Given the description of an element on the screen output the (x, y) to click on. 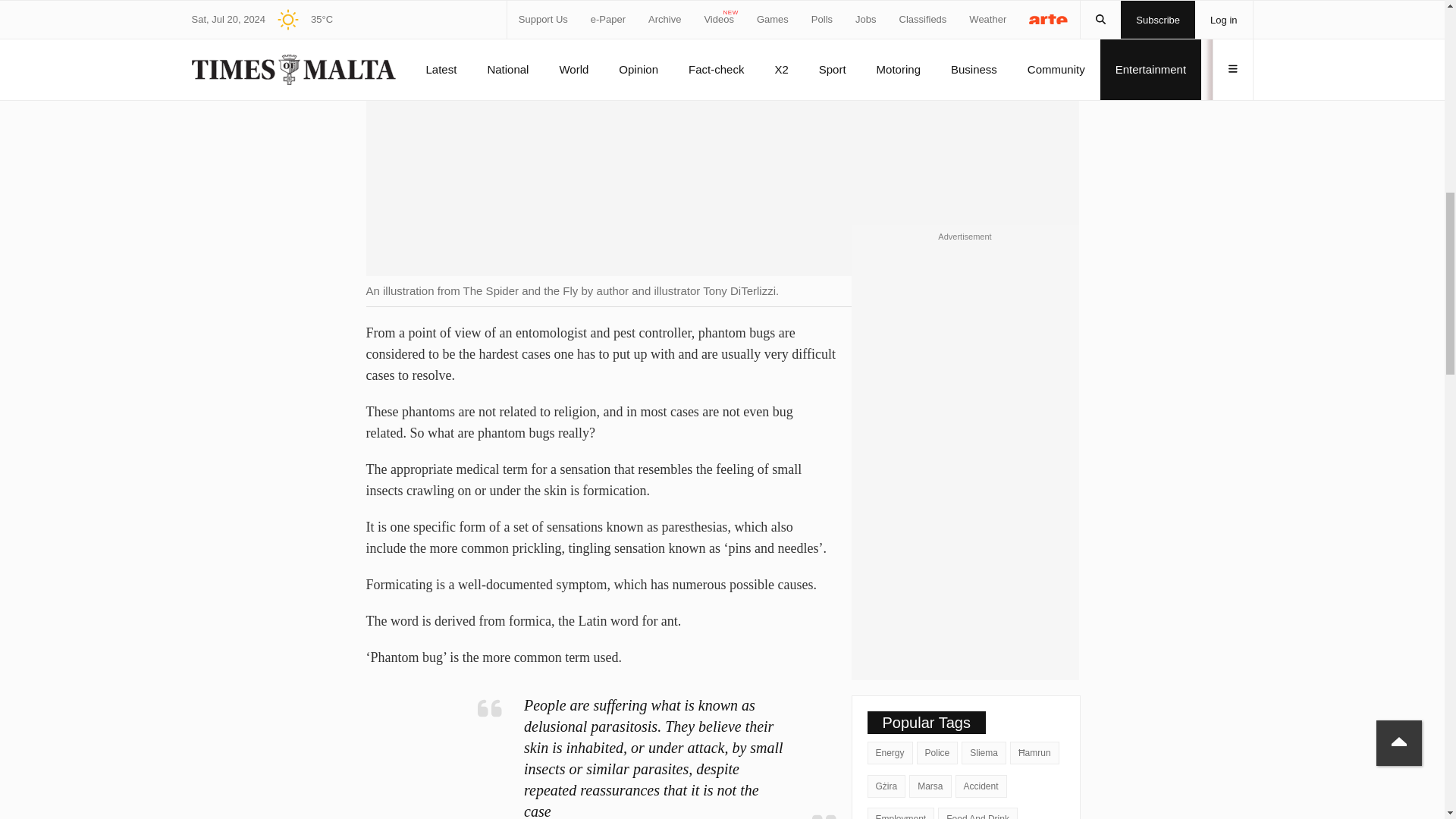
Accident (981, 785)
Marsa (929, 785)
Energy (889, 753)
Police (937, 753)
Sliema (983, 753)
Employment (900, 813)
